Given the description of an element on the screen output the (x, y) to click on. 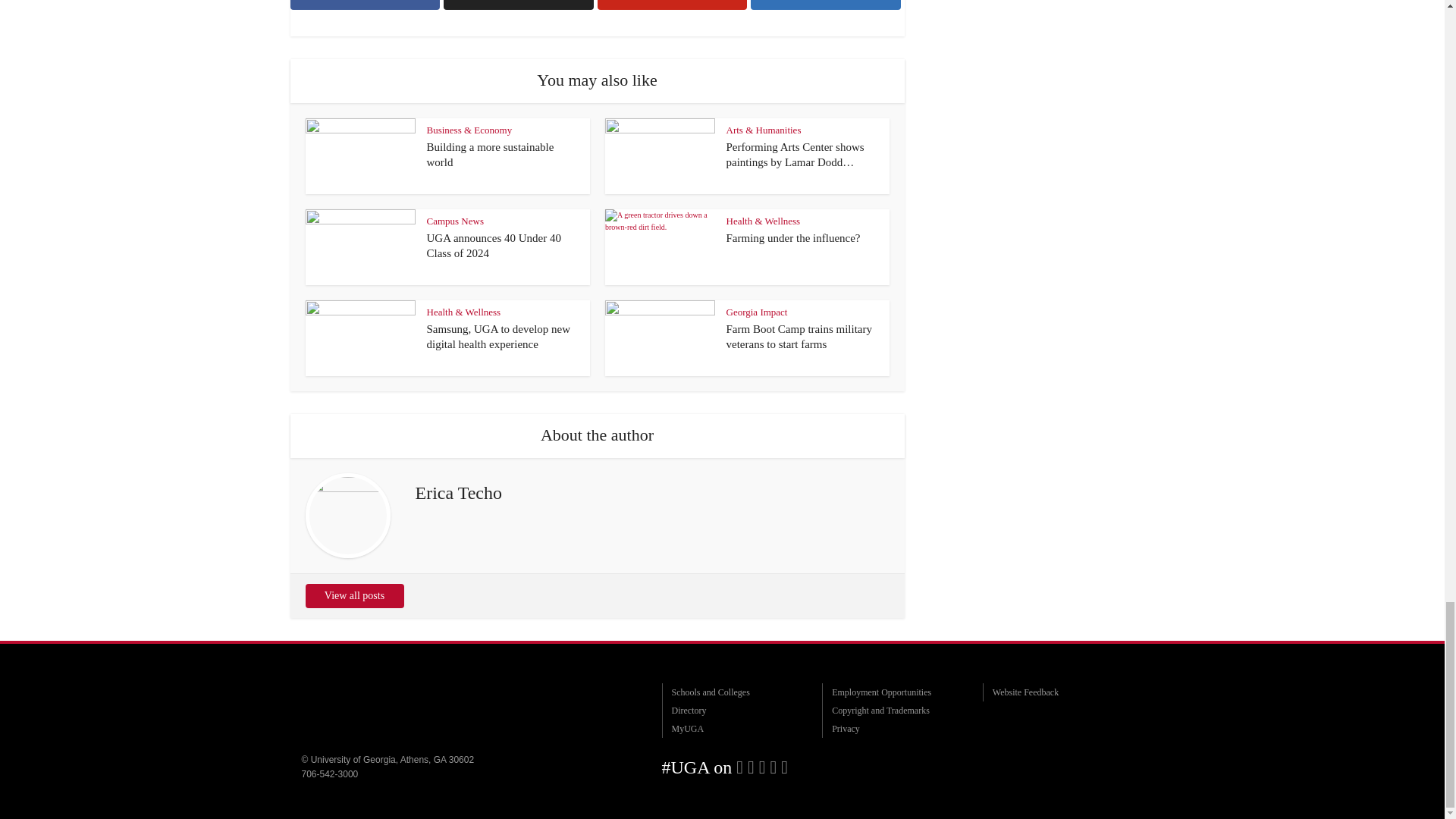
Farming under the influence? (793, 237)
Farm Boot Camp trains military veterans to start farms (799, 336)
Building a more sustainable world (489, 154)
Building a more sustainable world (489, 154)
Samsung, UGA to develop new digital health experience (498, 336)
Campus News (454, 220)
UGA announces 40 Under 40 Class of 2024 (493, 245)
